Given the description of an element on the screen output the (x, y) to click on. 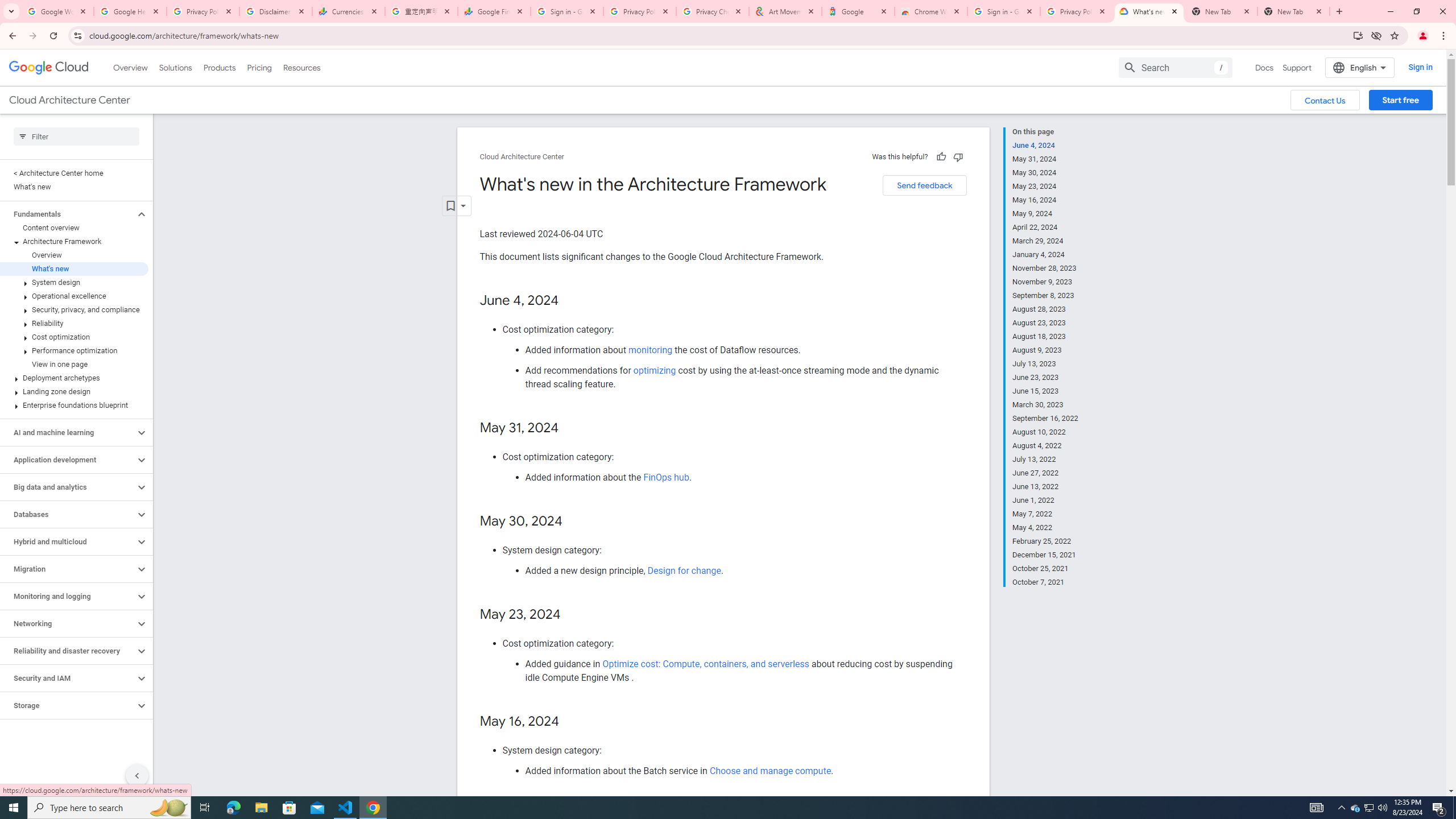
Open dropdown (456, 205)
Solutions (175, 67)
Landing zone design (74, 391)
Hide side navigation (136, 775)
August 9, 2023 (1044, 350)
May 9, 2024 (1044, 213)
February 25, 2022 (1044, 540)
Deployment archetypes (74, 377)
Copy link to this section: June 4, 2024 (570, 300)
